Given the description of an element on the screen output the (x, y) to click on. 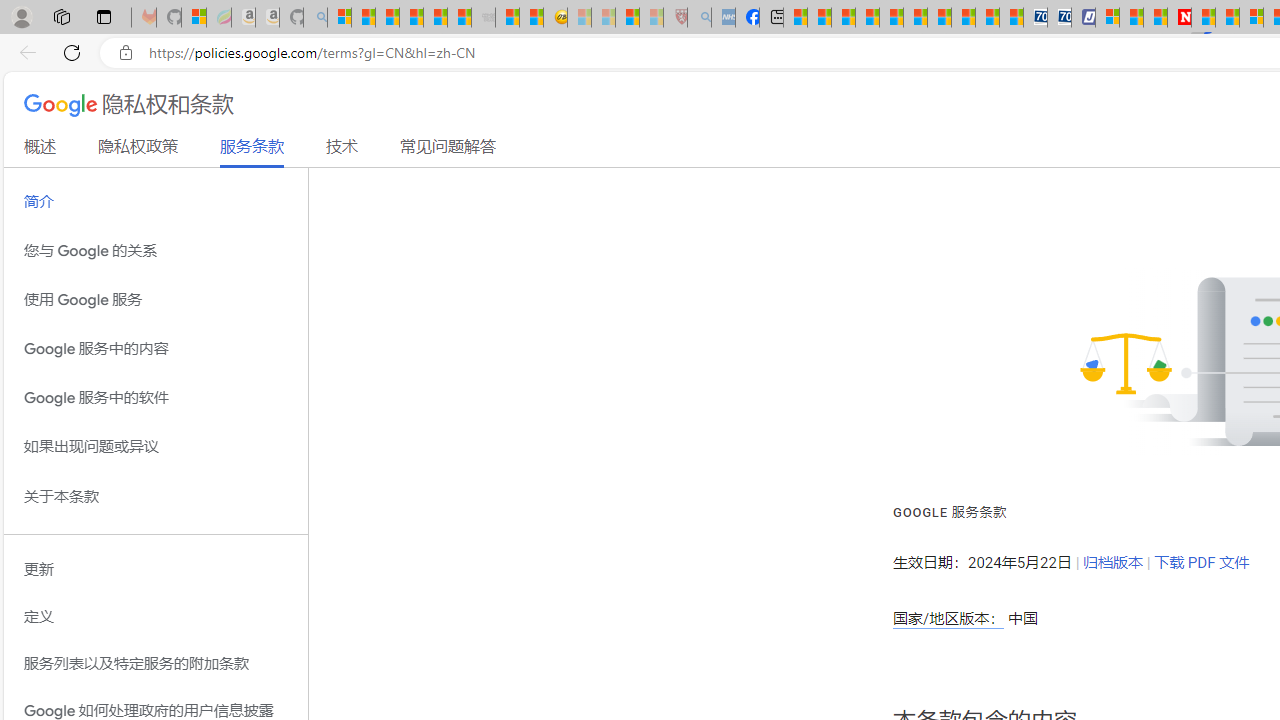
Cheap Hotels - Save70.com (1059, 17)
Cheap Car Rentals - Save70.com (1035, 17)
